Given the description of an element on the screen output the (x, y) to click on. 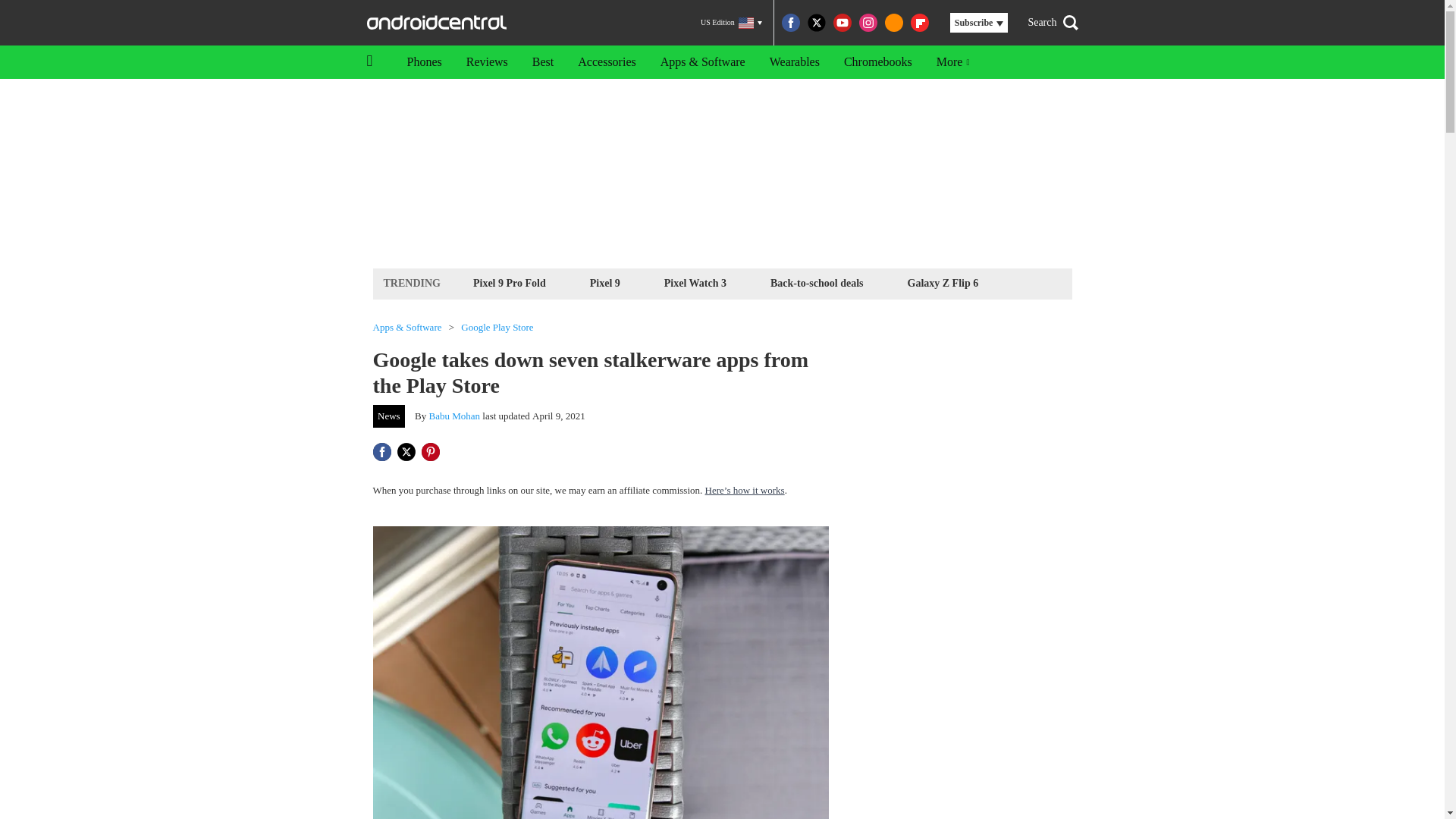
Pixel 9 Pro Fold (509, 282)
Chromebooks (877, 61)
US Edition (731, 22)
News (389, 415)
Pixel Watch 3 (695, 282)
Best (542, 61)
Back-to-school deals (817, 282)
Babu Mohan (454, 415)
Galaxy Z Flip 6 (943, 282)
Phones (423, 61)
